Given the description of an element on the screen output the (x, y) to click on. 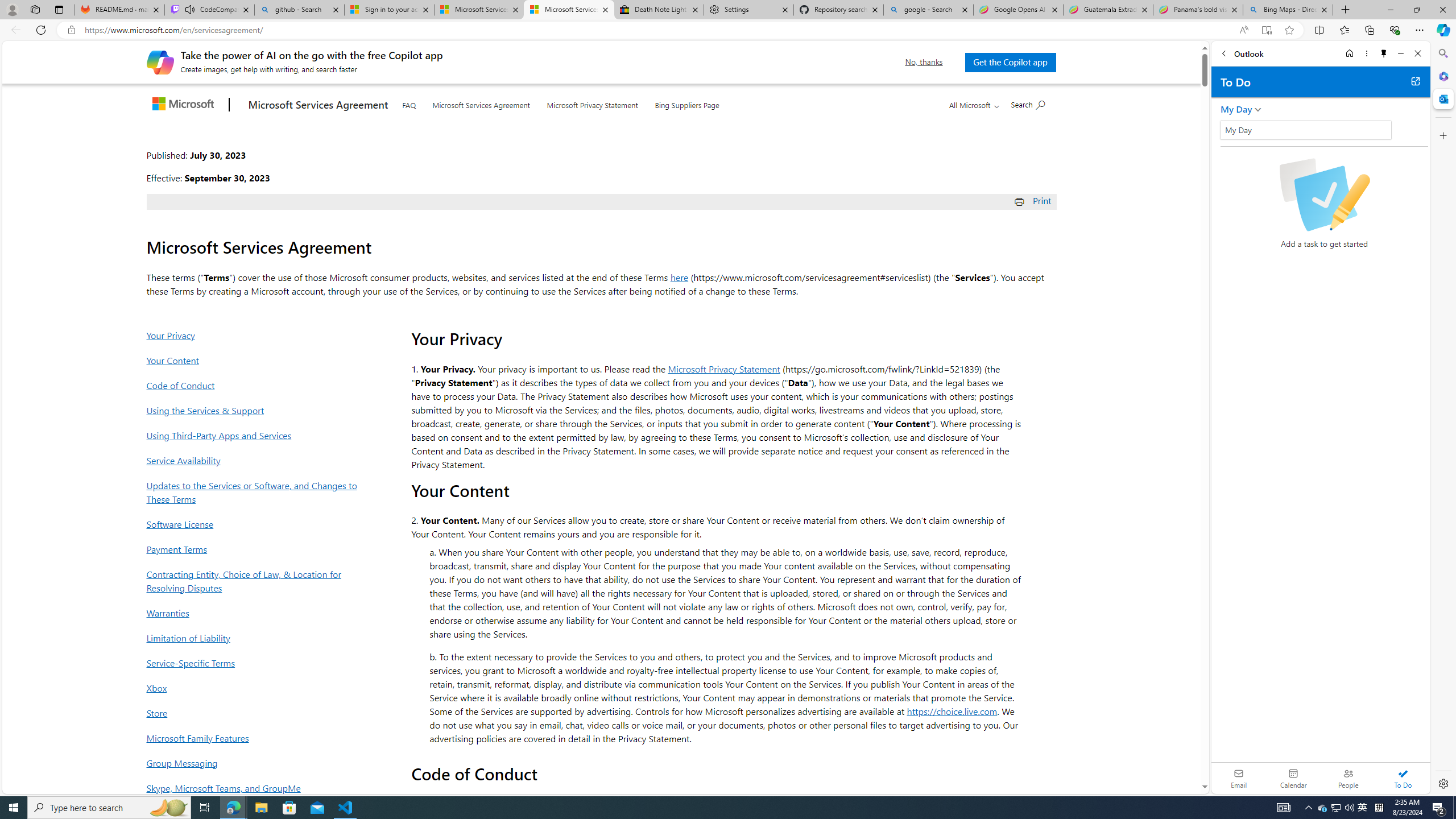
People (1347, 777)
Add a task (1334, 133)
Service Availability (254, 459)
here (678, 277)
Bing Suppliers Page (687, 103)
Email (1238, 777)
Microsoft Privacy Statement (591, 103)
Class: wL_Ii70haOUOvHnsRwbD (1305, 130)
